Given the description of an element on the screen output the (x, y) to click on. 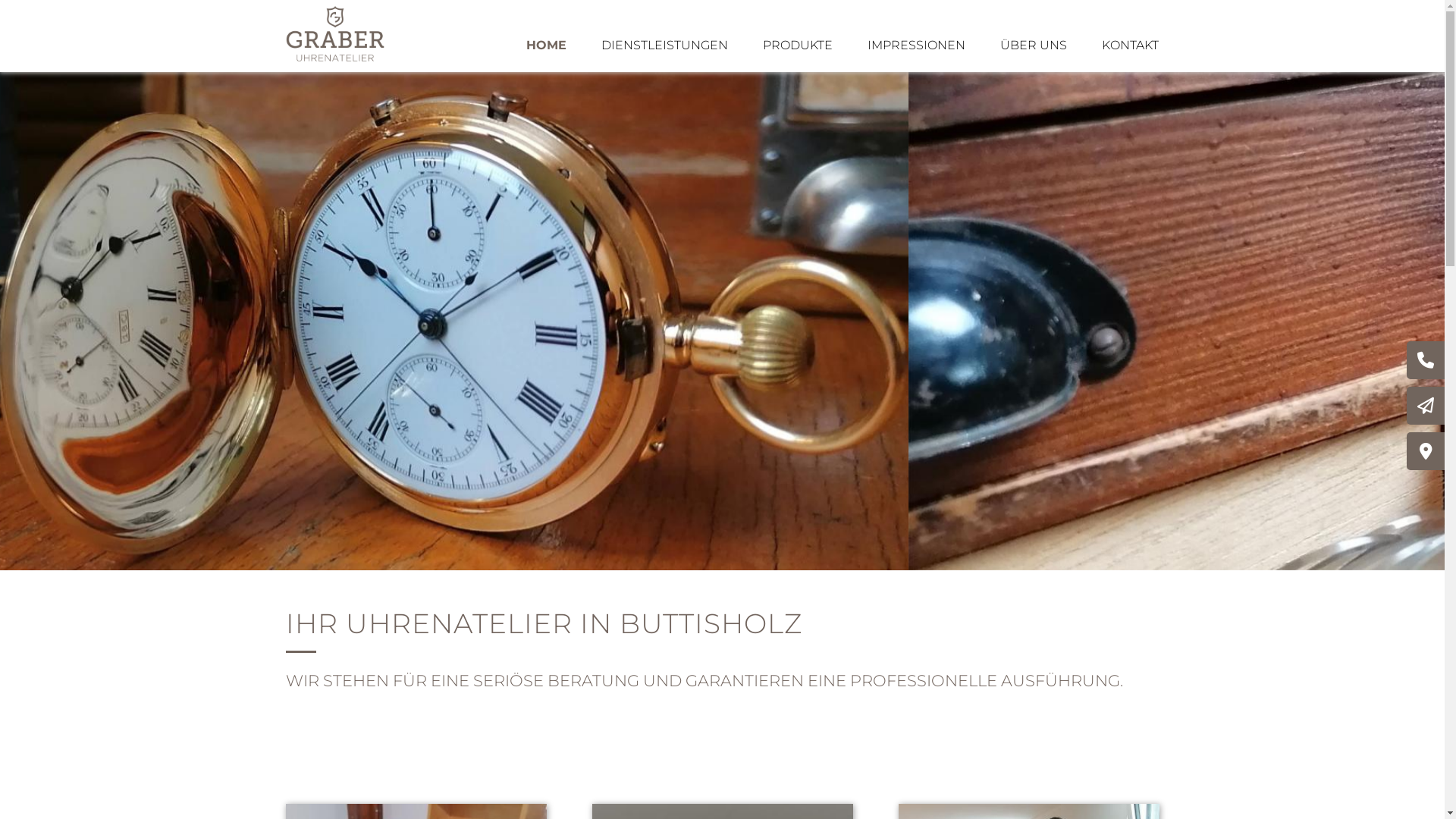
DIENSTLEISTUNGEN Element type: text (663, 44)
PRODUKTE Element type: text (797, 44)
KONTAKT Element type: text (1129, 44)
IMPRESSIONEN Element type: text (916, 44)
HOME Element type: text (546, 44)
